Given the description of an element on the screen output the (x, y) to click on. 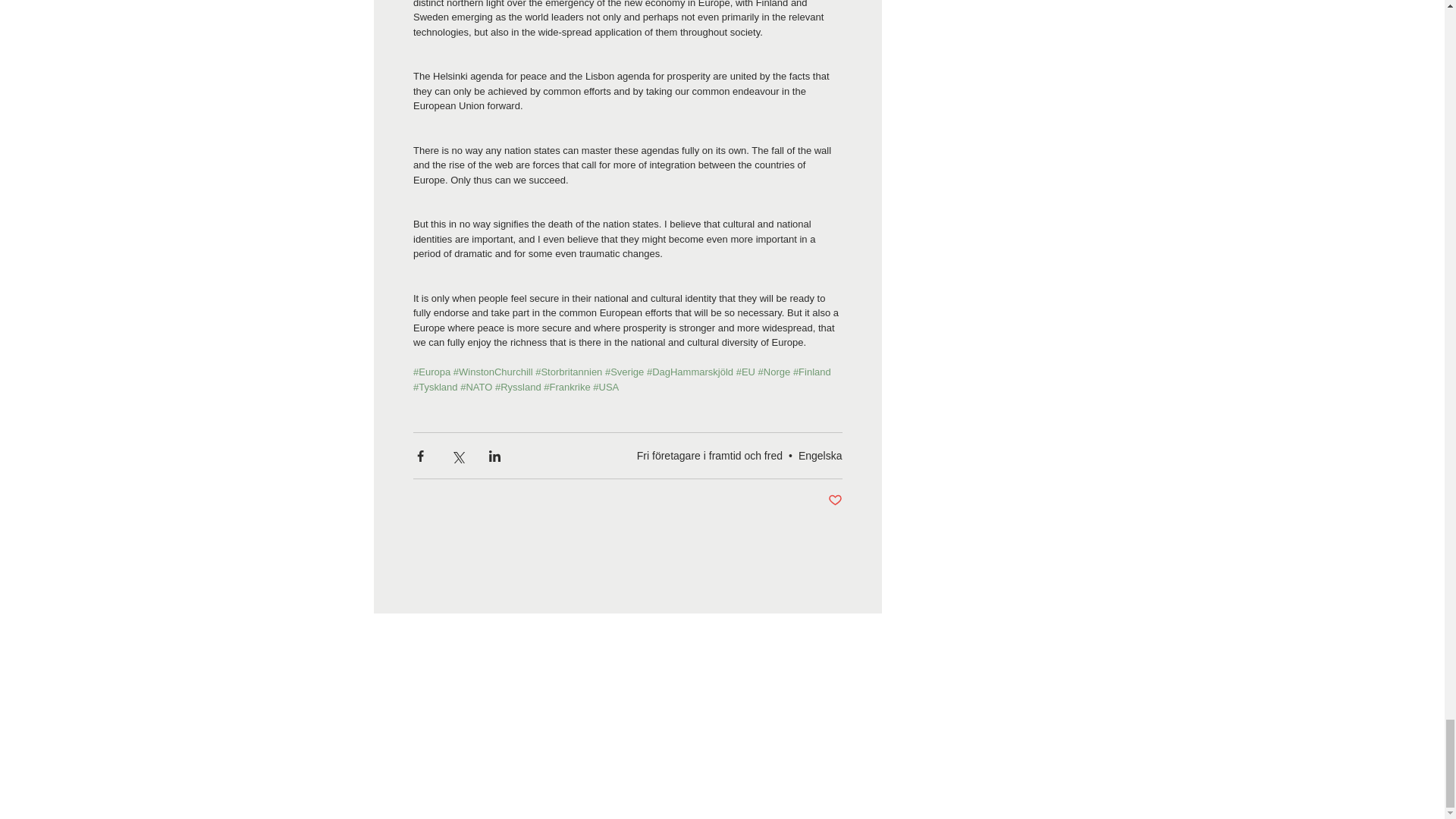
Engelska (820, 455)
